Given the description of an element on the screen output the (x, y) to click on. 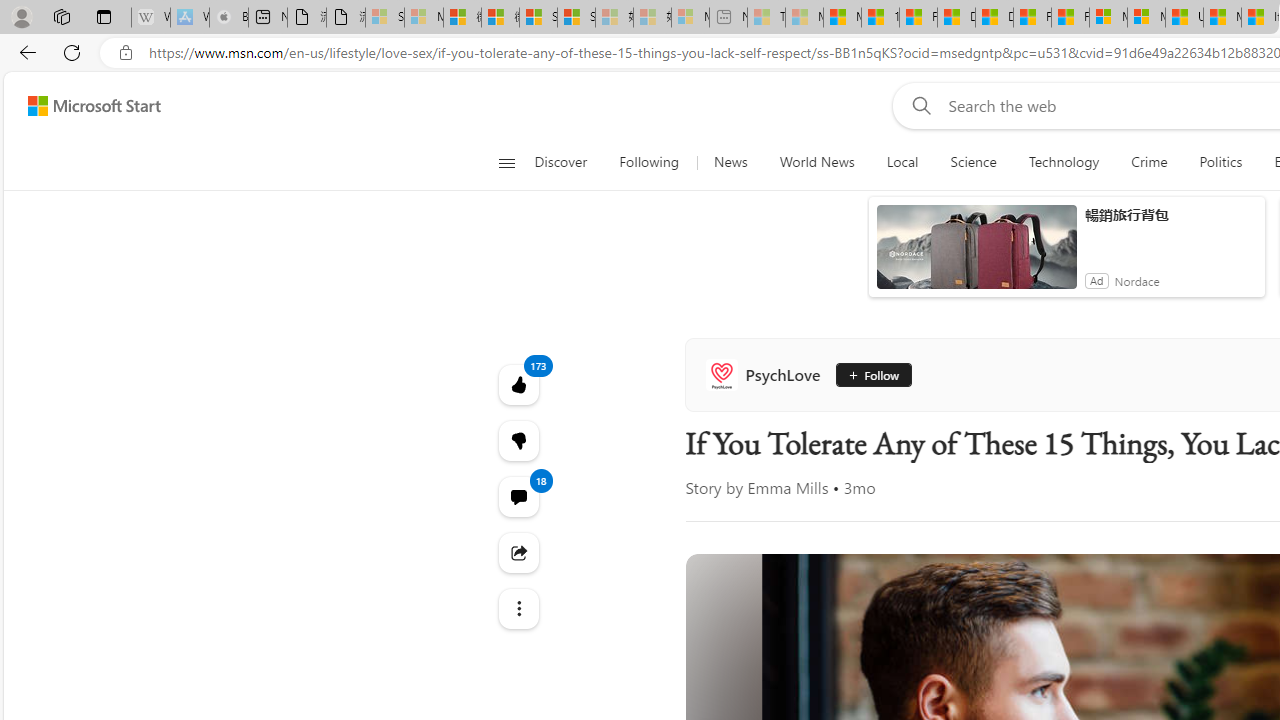
Drinking tea every day is proven to delay biological aging (993, 17)
View comments 18 Comment (517, 496)
Follow (872, 374)
Sign in to your Microsoft account - Sleeping (385, 17)
173 (517, 440)
US Heat Deaths Soared To Record High Last Year (1184, 17)
